Given the description of an element on the screen output the (x, y) to click on. 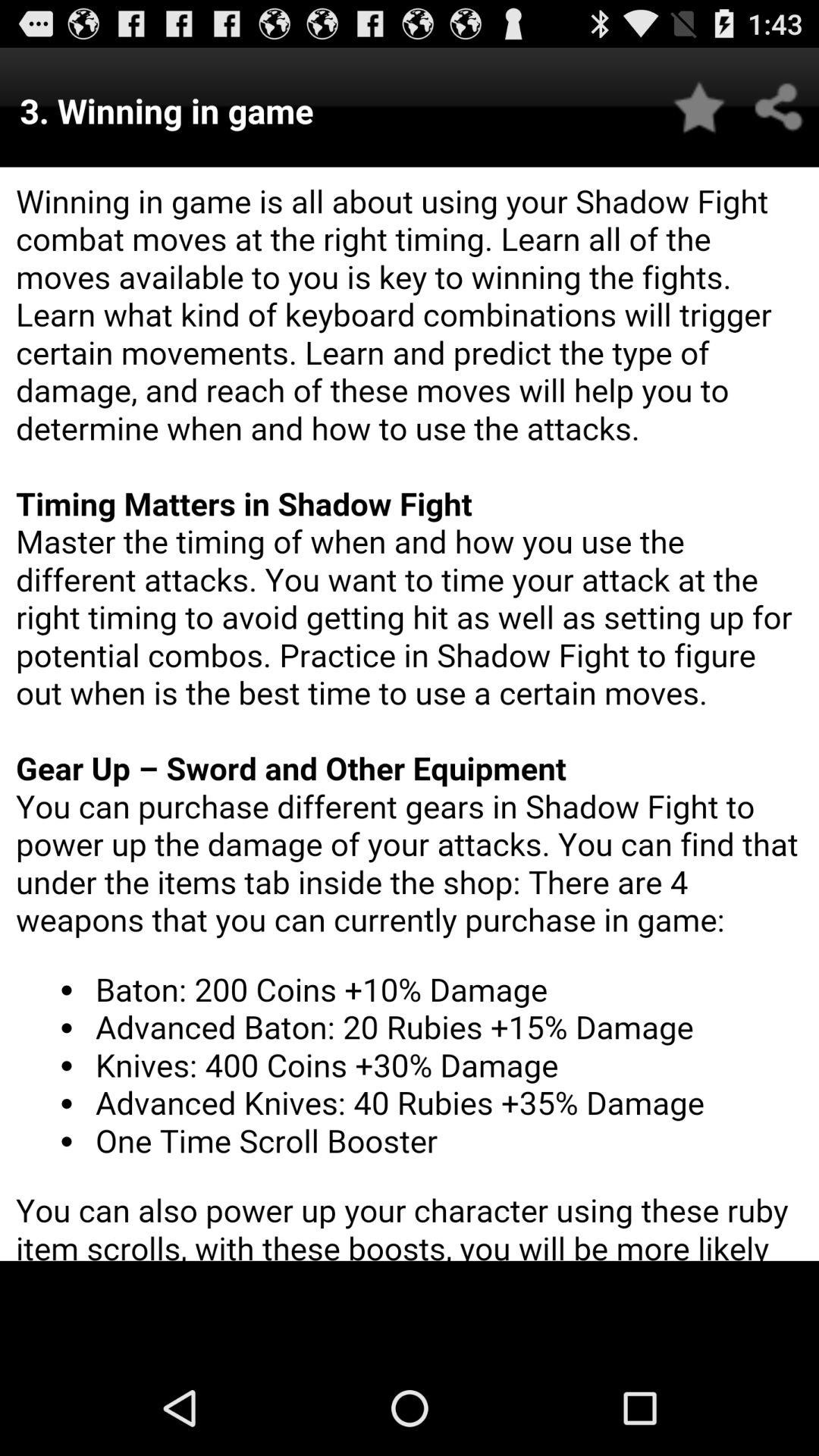
add to favorites (699, 107)
